Given the description of an element on the screen output the (x, y) to click on. 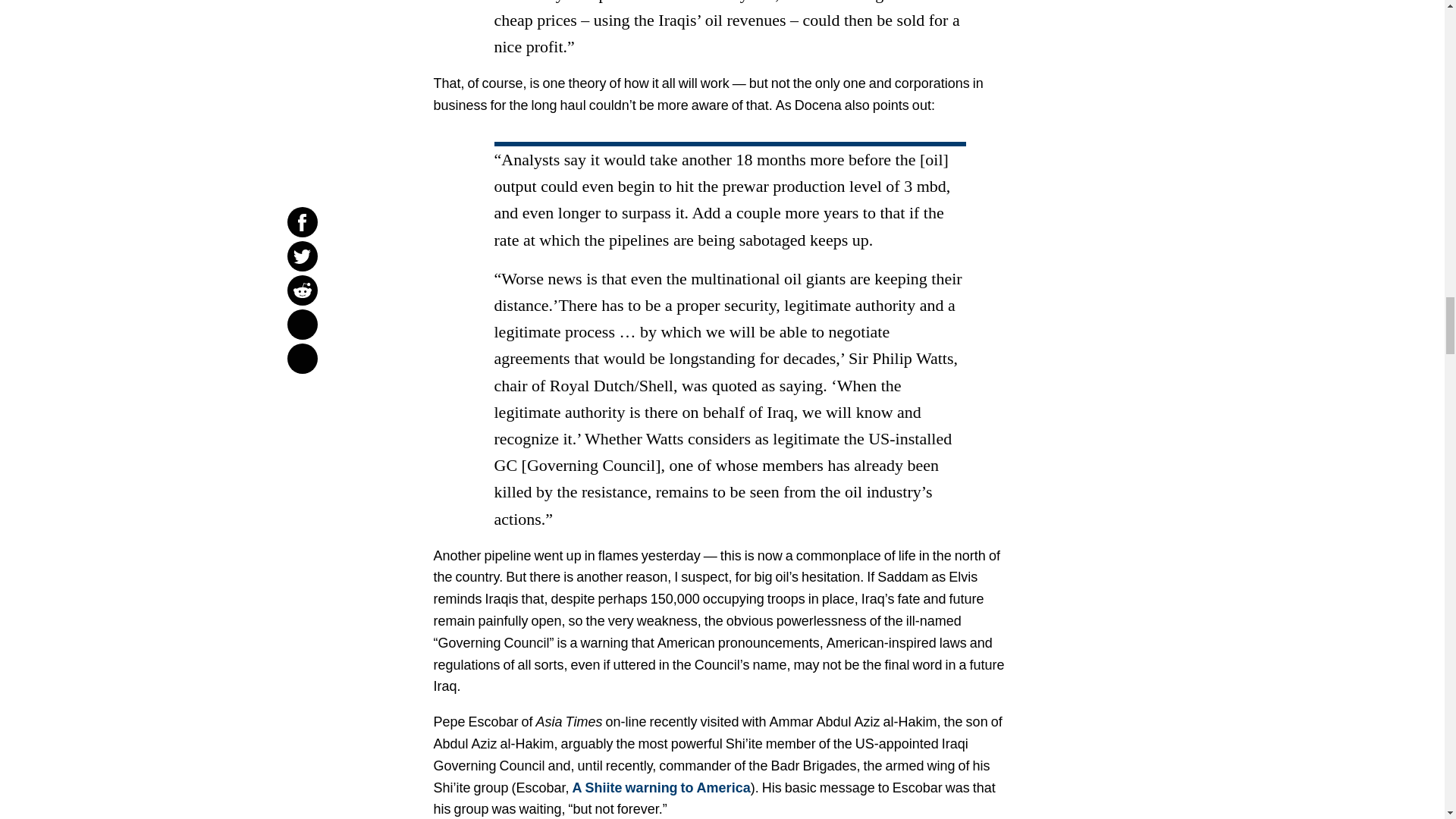
A Shiite warning to America (661, 787)
